Given the description of an element on the screen output the (x, y) to click on. 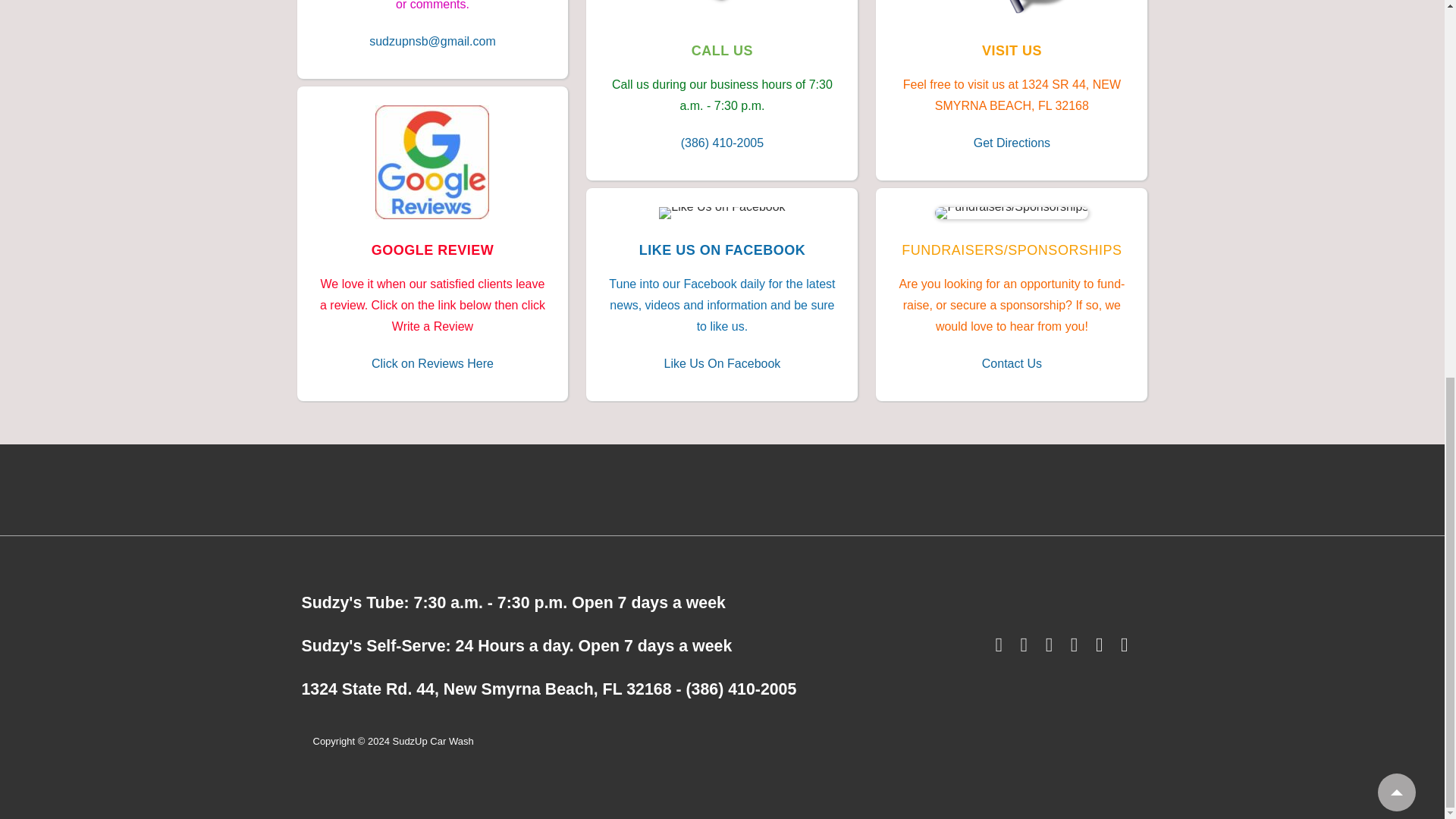
facebook (1001, 647)
instagram (1052, 647)
Contact Us (1011, 363)
Like Us On Facebook (721, 363)
Top (1396, 94)
yelp (1077, 647)
Get Directions (1011, 142)
youtube (1026, 647)
VISIT US (1011, 50)
CALL US (721, 50)
